Given the description of an element on the screen output the (x, y) to click on. 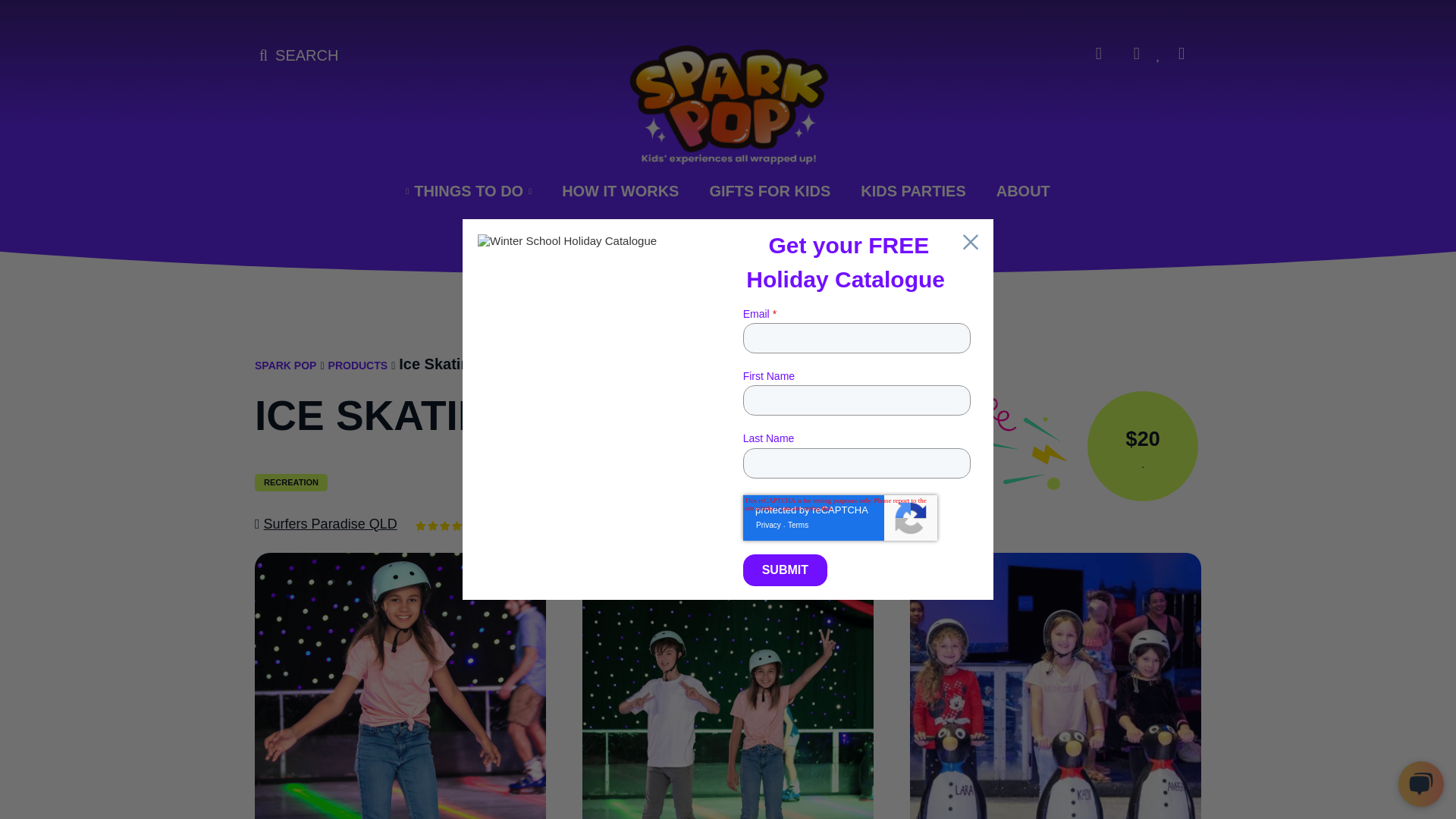
ABOUT (1022, 190)
SEARCH (298, 55)
GIFTS FOR KIDS (769, 190)
Cart (1106, 53)
Go to SPARK POP. (284, 365)
HOW IT WORKS (620, 190)
SPARK POP (284, 365)
PRODUCTS (358, 365)
KIDS PARTIES (912, 190)
Go to Products. (358, 365)
THINGS TO DO (468, 190)
